Given the description of an element on the screen output the (x, y) to click on. 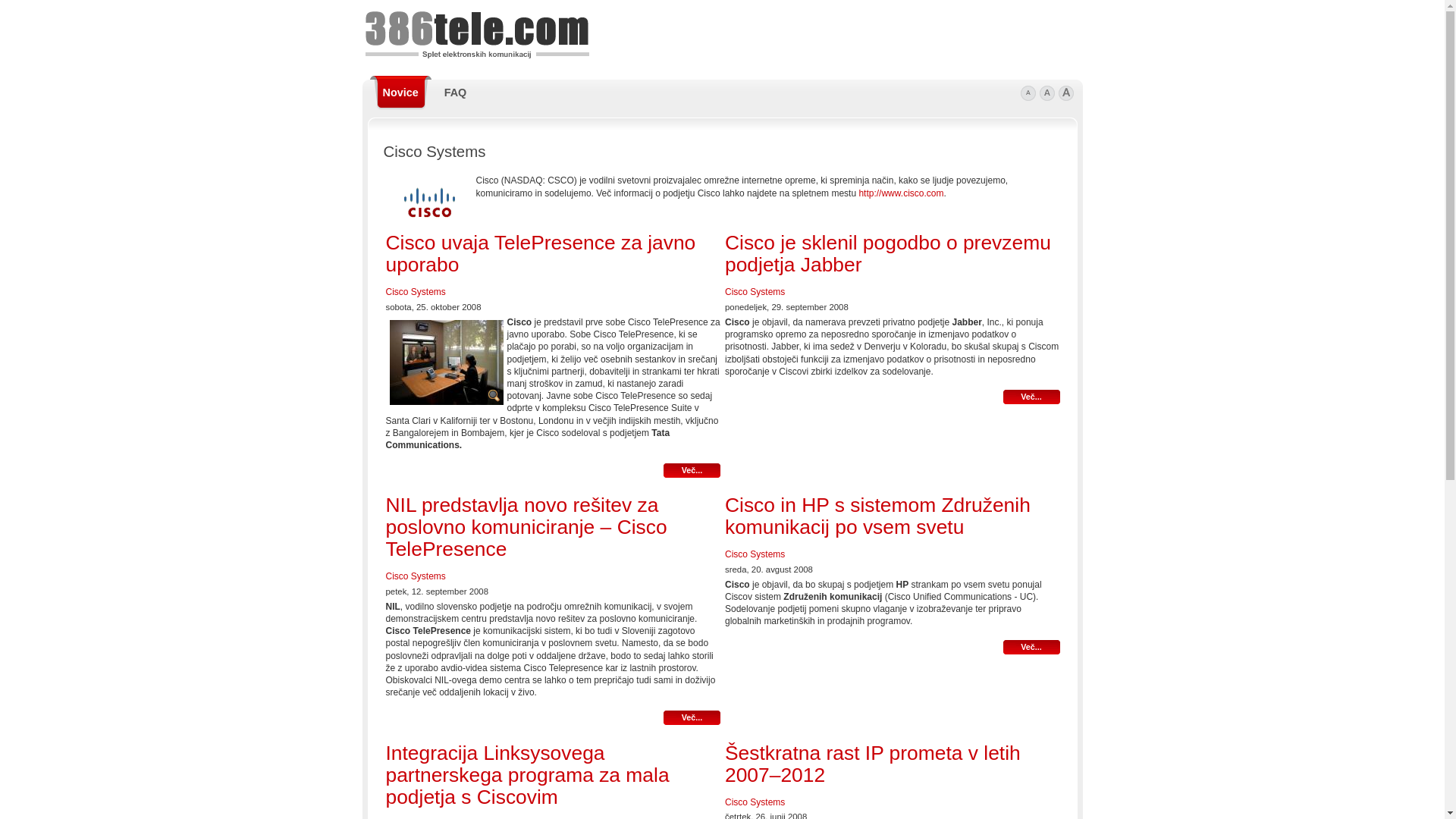
FAQ Element type: text (455, 92)
Cisco Systems Element type: text (415, 576)
Cisco uvaja TelePresence za javno uporabo Element type: text (540, 253)
Cisco Systems Element type: text (754, 802)
Cisco Systems Element type: text (415, 291)
Cisco Systems Element type: text (754, 554)
Novice Element type: text (400, 92)
Cisco Systems Element type: text (754, 291)
Cisco je sklenil pogodbo o prevzemu podjetja Jabber Element type: text (887, 253)
http://www.cisco.com Element type: text (900, 193)
